Given the description of an element on the screen output the (x, y) to click on. 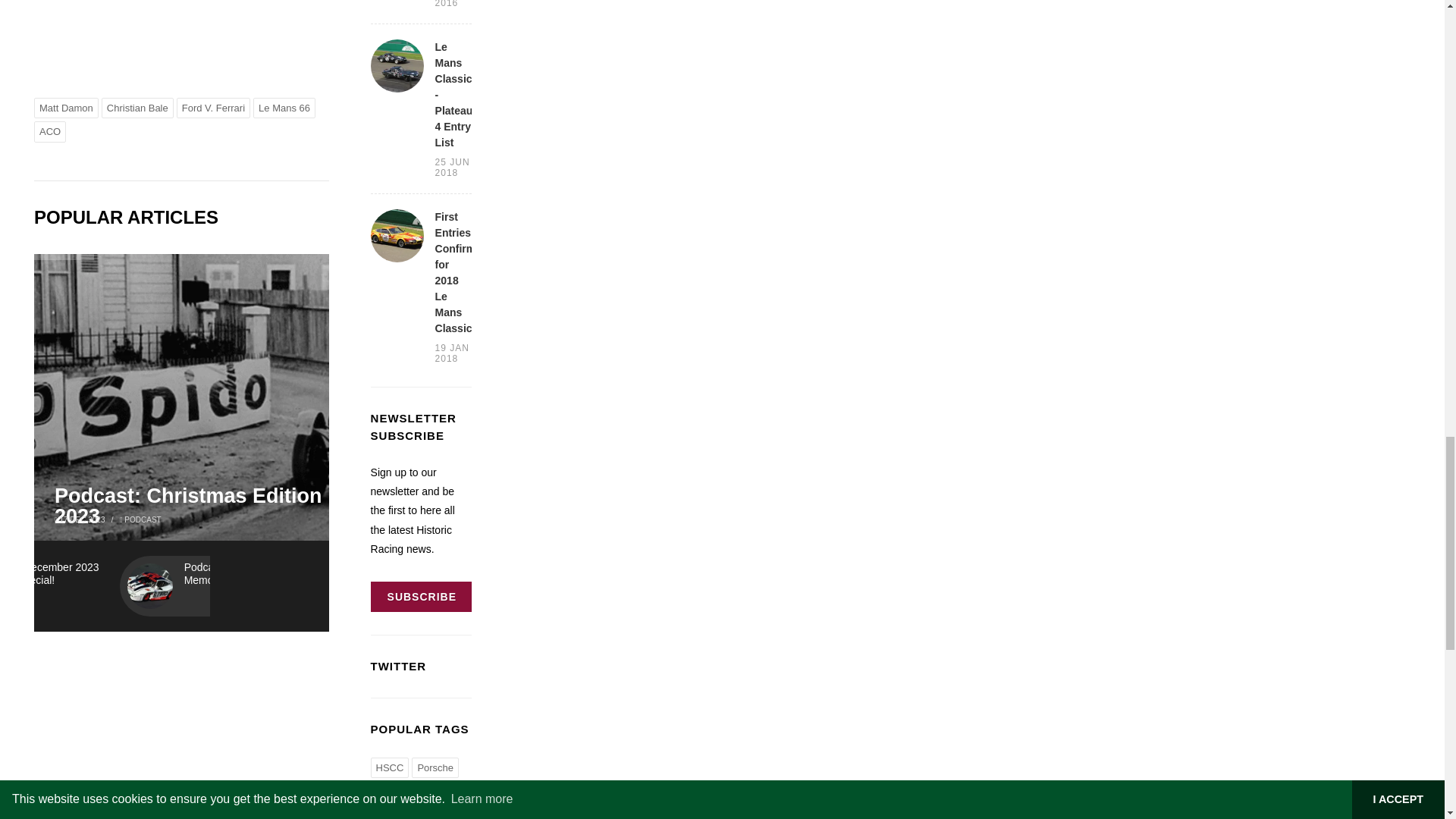
ACO (49, 131)
Ford V. Ferrari (213, 107)
Matt Damon (66, 107)
Christian Bale (137, 107)
Le Mans 66 (284, 107)
Podcast: Christmas Edition 2023 (205, 506)
PODCAST (141, 519)
